Given the description of an element on the screen output the (x, y) to click on. 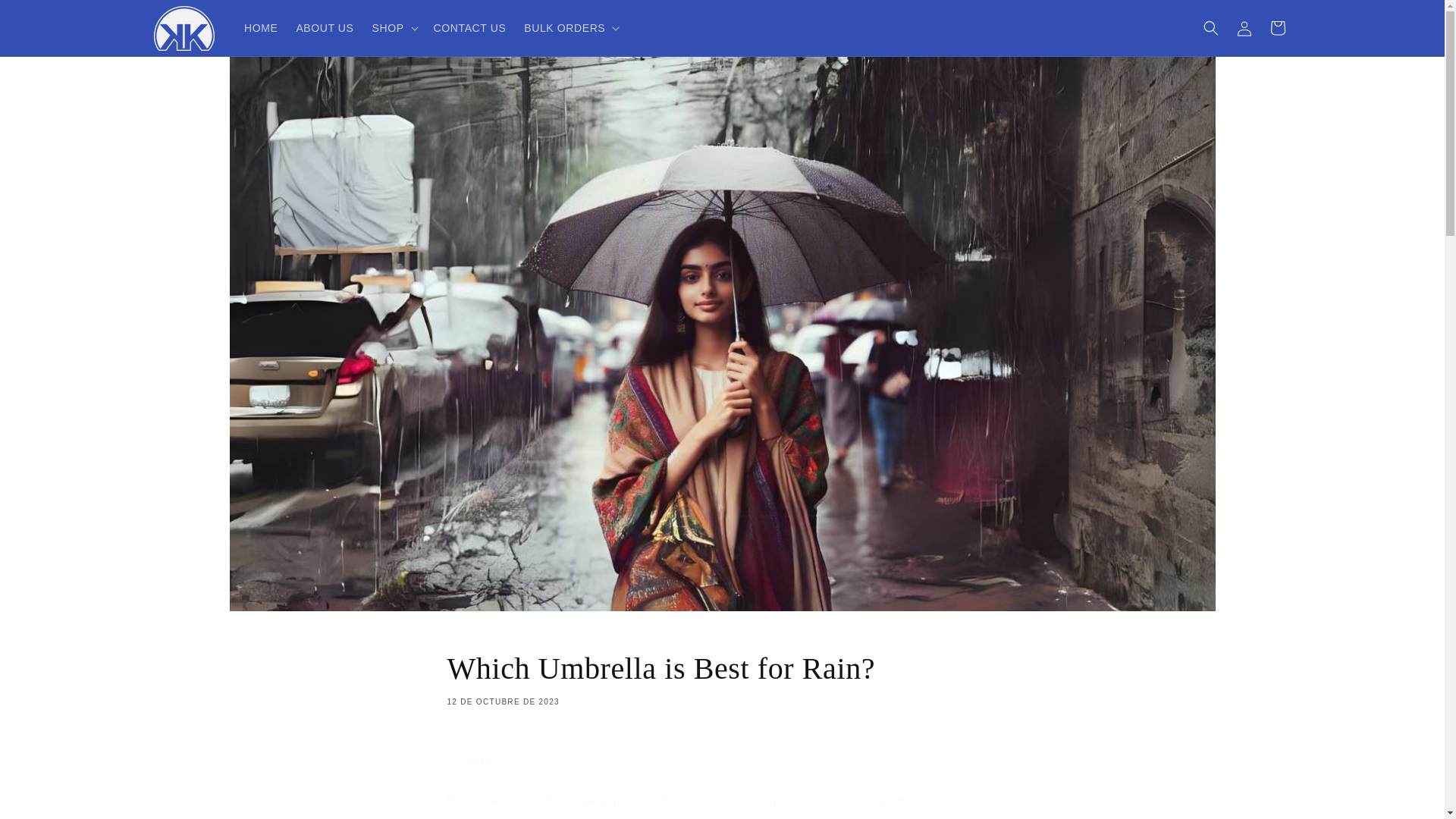
Share (721, 761)
CONTACT US (470, 28)
ABOUT US (324, 28)
Ir directamente al contenido (45, 17)
Carrito (721, 677)
HOME (1277, 28)
